Given the description of an element on the screen output the (x, y) to click on. 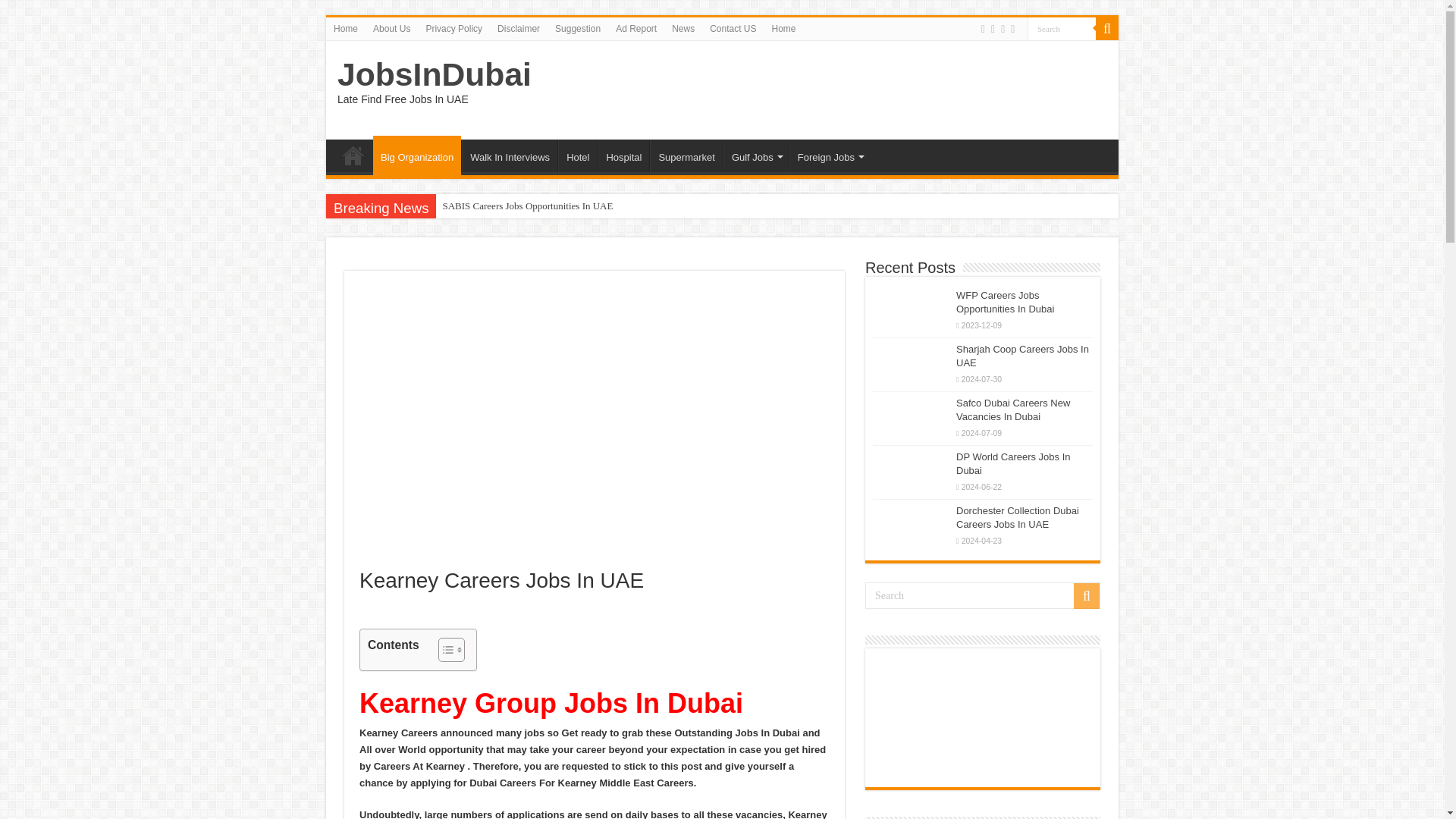
Ad Report (635, 28)
Home (345, 28)
JobsInDubai (434, 74)
Hospital (622, 155)
Privacy Policy (453, 28)
Hotel (576, 155)
Walk In Interviews (509, 155)
Disclaimer (518, 28)
Foreign Jobs (829, 155)
Gulf Jobs (756, 155)
Search (1107, 28)
Home (783, 28)
About Us (391, 28)
Supermarket (685, 155)
Search (982, 595)
